Given the description of an element on the screen output the (x, y) to click on. 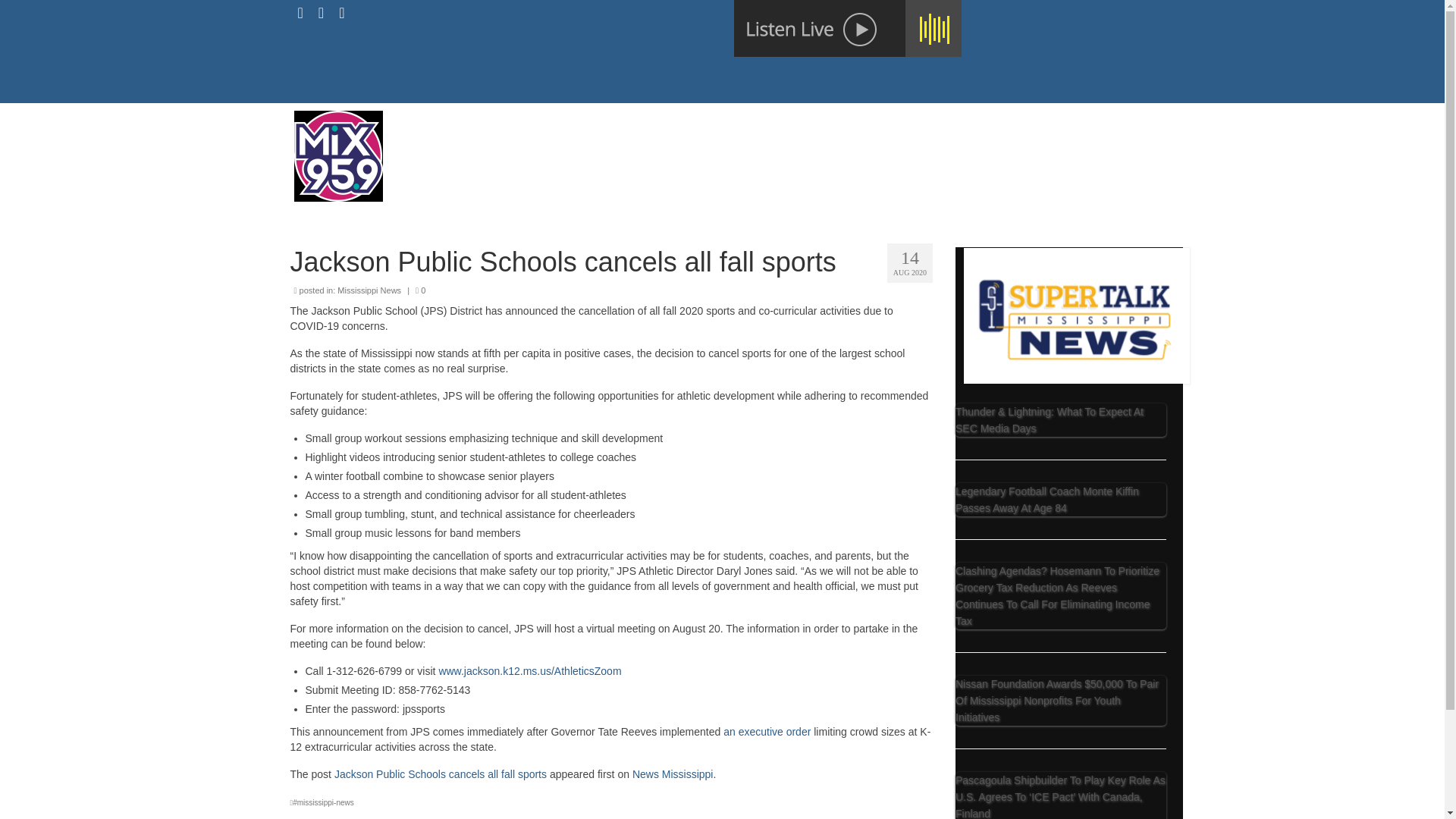
Jackson Public Schools cancels all fall sports (440, 774)
HOME (612, 148)
ON-AIR (669, 148)
Mississippi News (369, 289)
CONTACT (738, 148)
Legendary football coach Monte Kiffin passes away at age 84 (1060, 499)
an executive order (766, 731)
Listen Live (846, 28)
News Mississippi (672, 774)
Legendary Football Coach Monte Kiffin Passes Away At Age 84 (1046, 499)
